Given the description of an element on the screen output the (x, y) to click on. 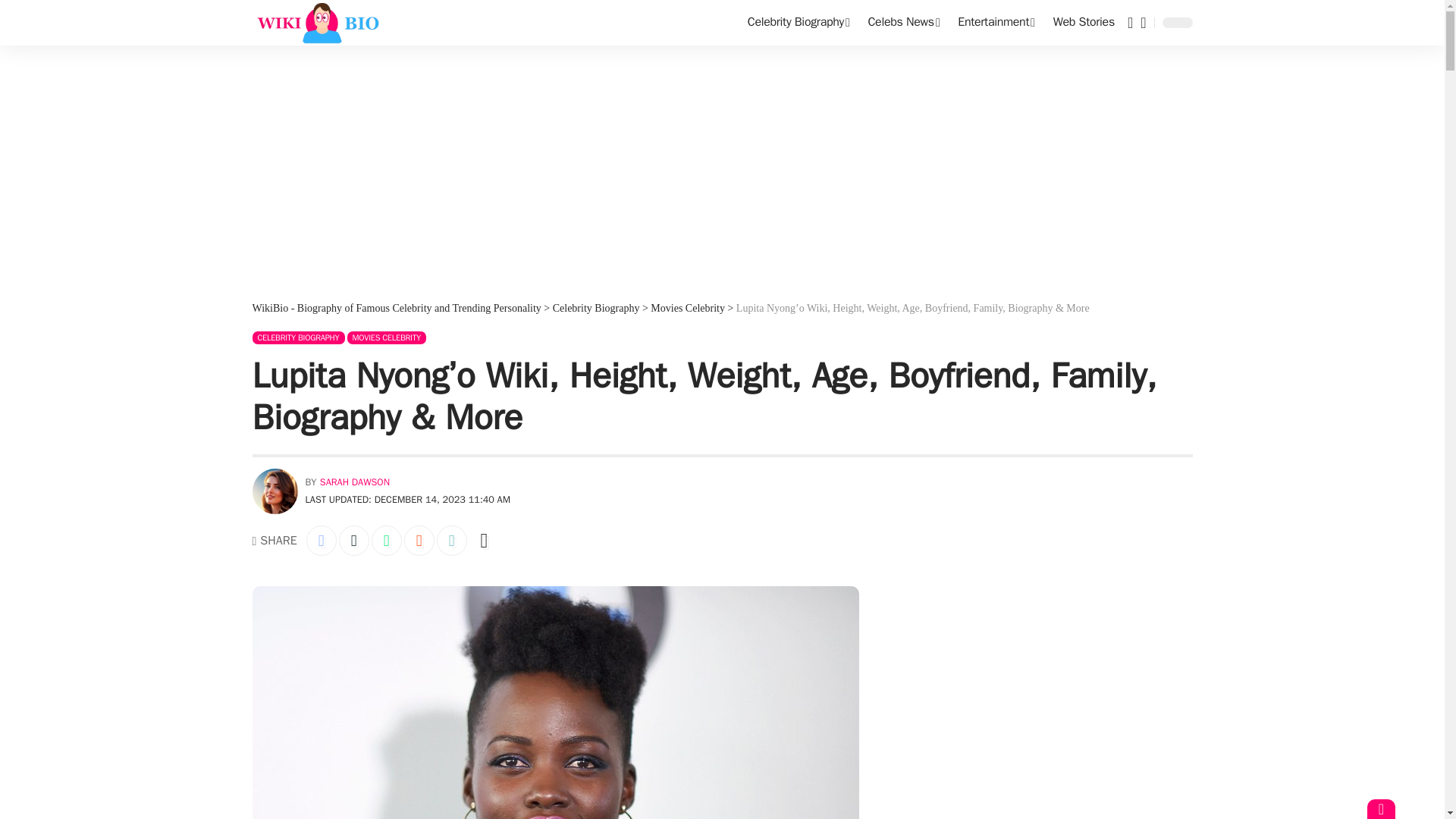
Celebs News (904, 22)
Web Stories (1083, 22)
Celebrity Biography (798, 22)
Entertainment (996, 22)
